Given the description of an element on the screen output the (x, y) to click on. 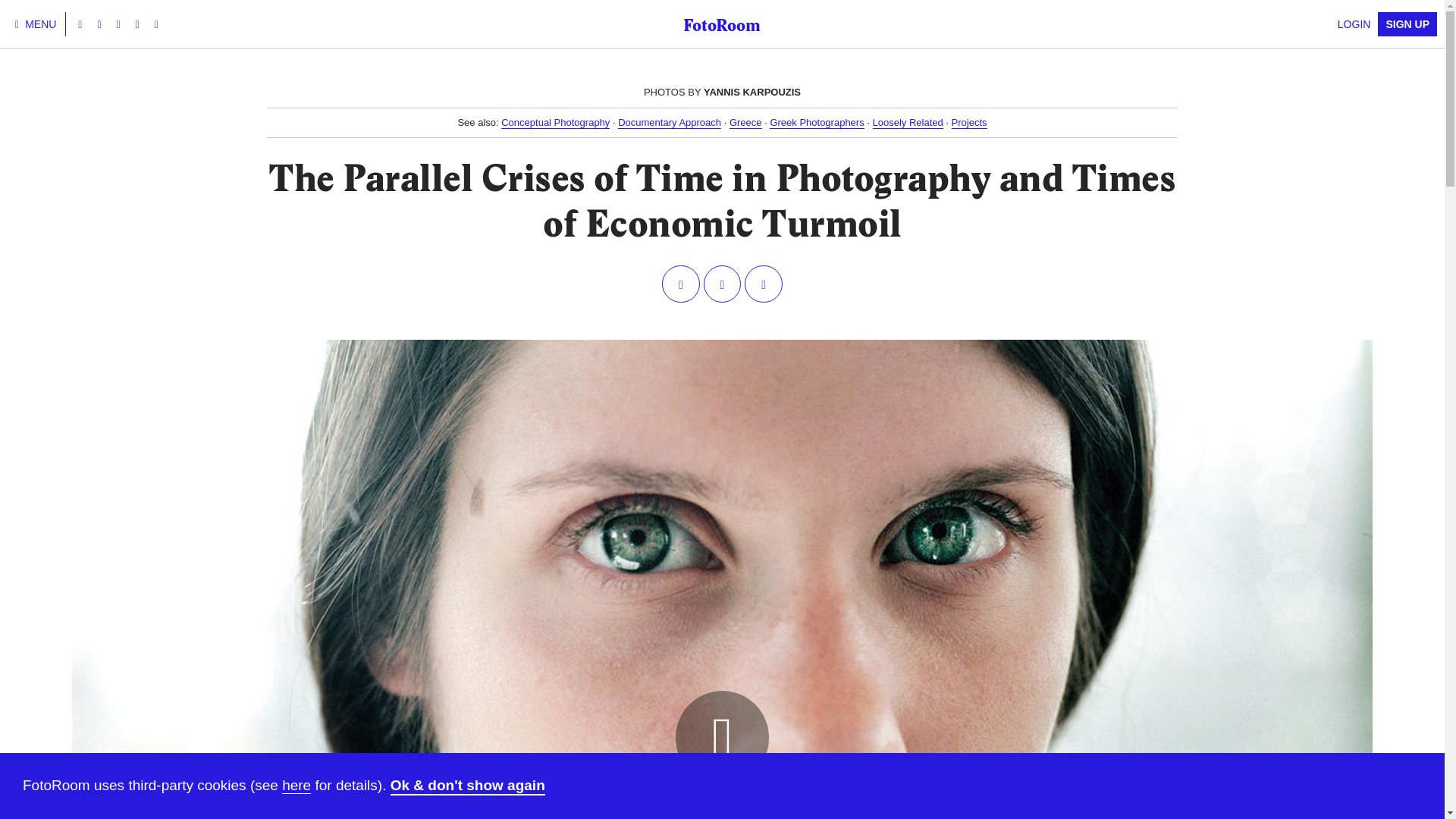
LOGIN (1354, 24)
Greece (745, 122)
Menu (36, 24)
FotoRoom (721, 24)
SIGN UP (1407, 24)
Documentary Approach (668, 122)
FotoRoom (721, 24)
Loosely Related (907, 122)
Conceptual Photography (555, 122)
Projects (969, 122)
